Given the description of an element on the screen output the (x, y) to click on. 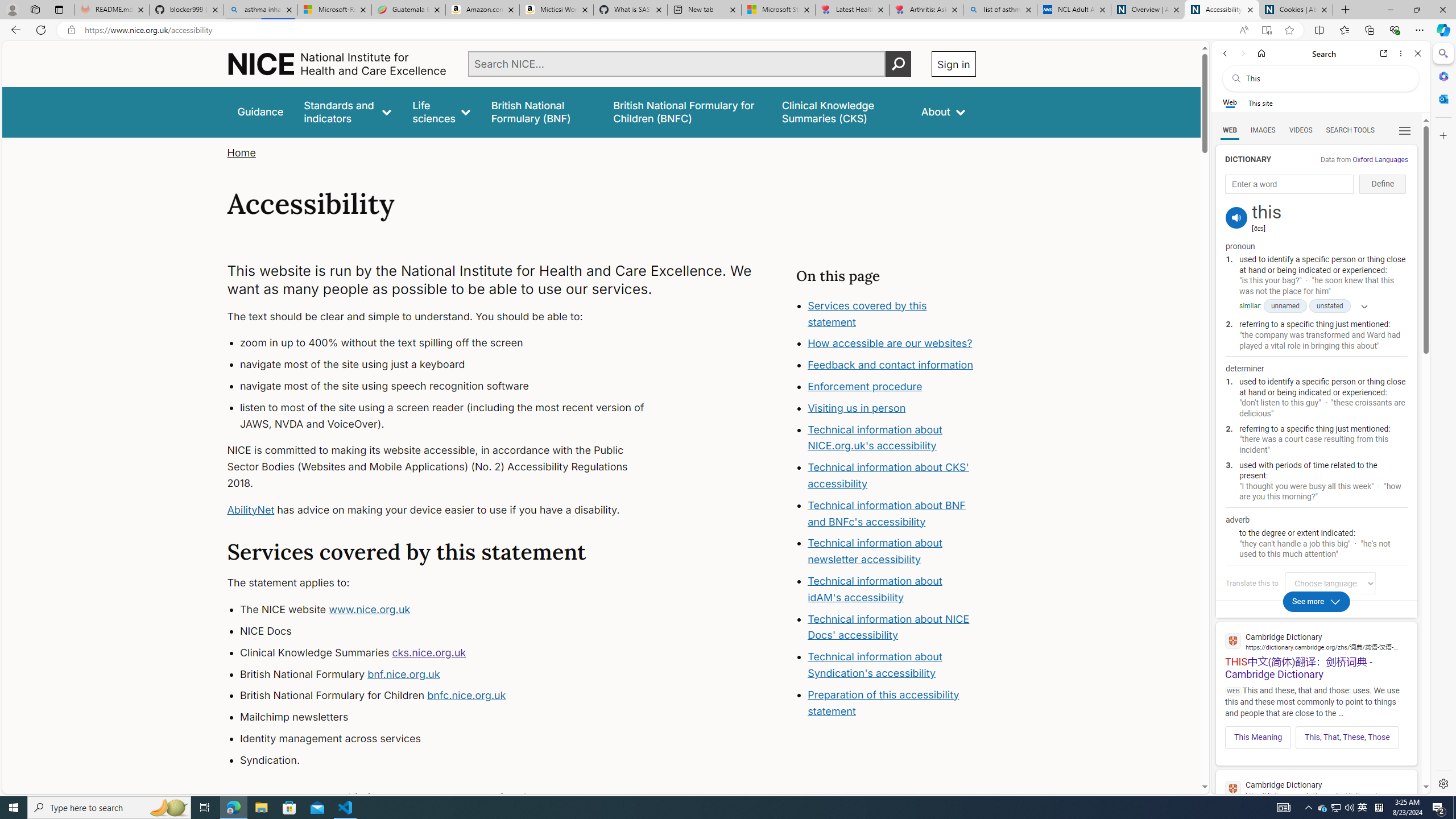
Syndication. (452, 760)
British National Formulary for Children (BNFC) (686, 111)
Life sciences (440, 111)
Link for logging (1333, 582)
Services covered by this statement (891, 313)
unstated (1329, 305)
Define (1382, 184)
